Given the description of an element on the screen output the (x, y) to click on. 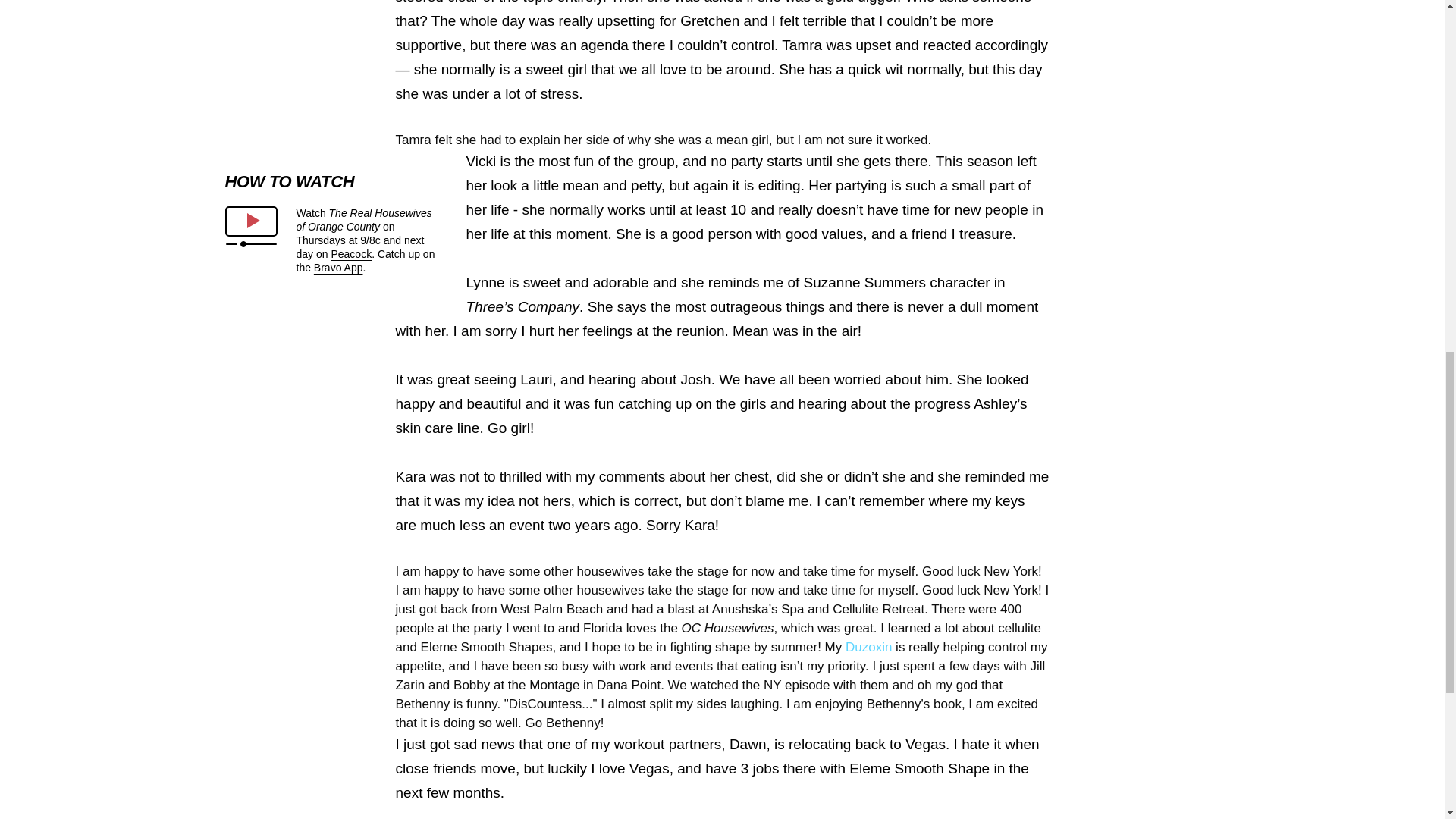
Peacock (350, 254)
Duzoxin (870, 646)
Bravo App (338, 267)
